Given the description of an element on the screen output the (x, y) to click on. 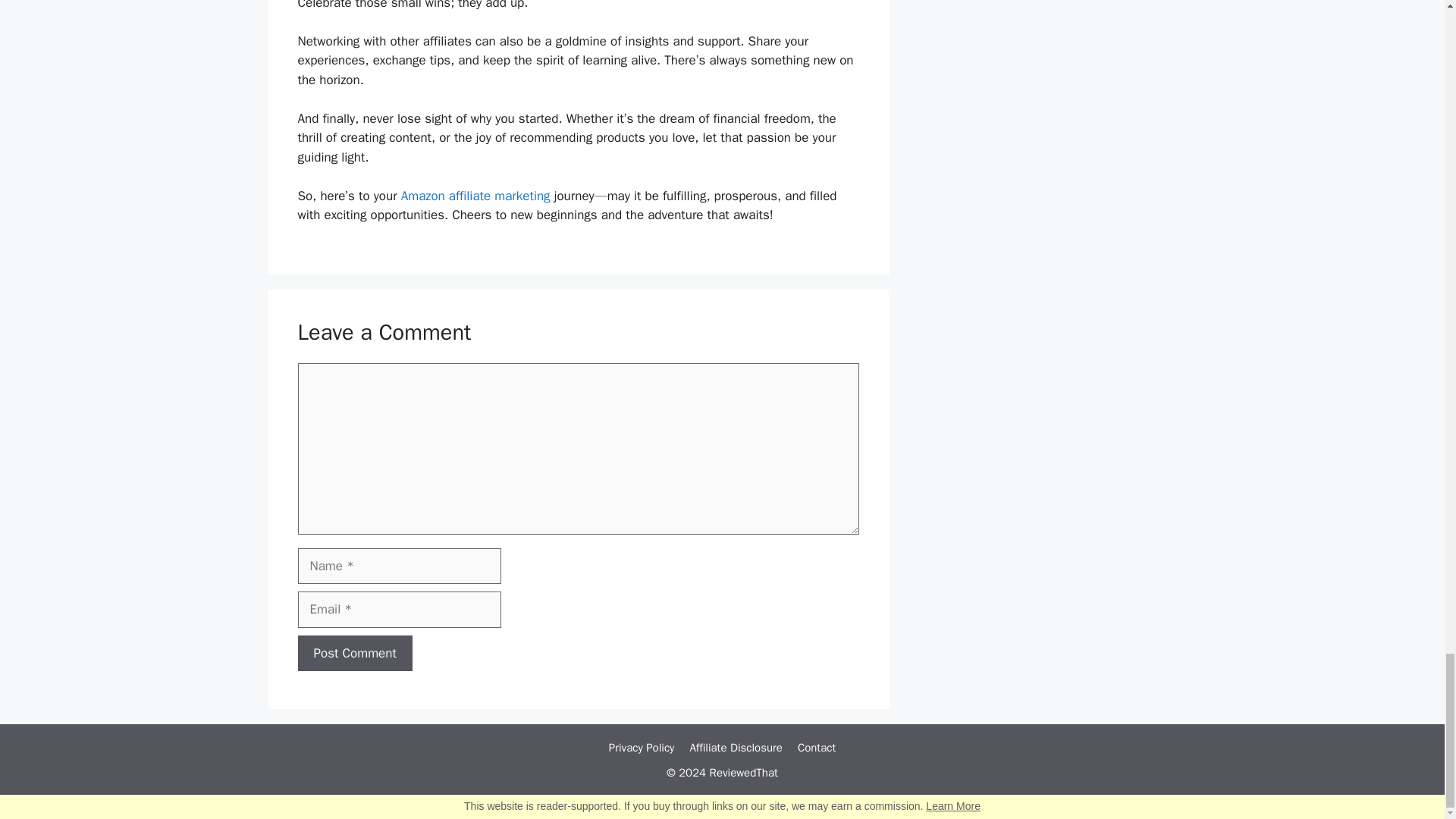
ReviewedThat (743, 772)
Post Comment (354, 653)
Privacy Policy (641, 747)
Contact (816, 747)
Post Comment (354, 653)
Affiliate Disclosure (735, 747)
Amazon affiliate marketing (475, 195)
